Given the description of an element on the screen output the (x, y) to click on. 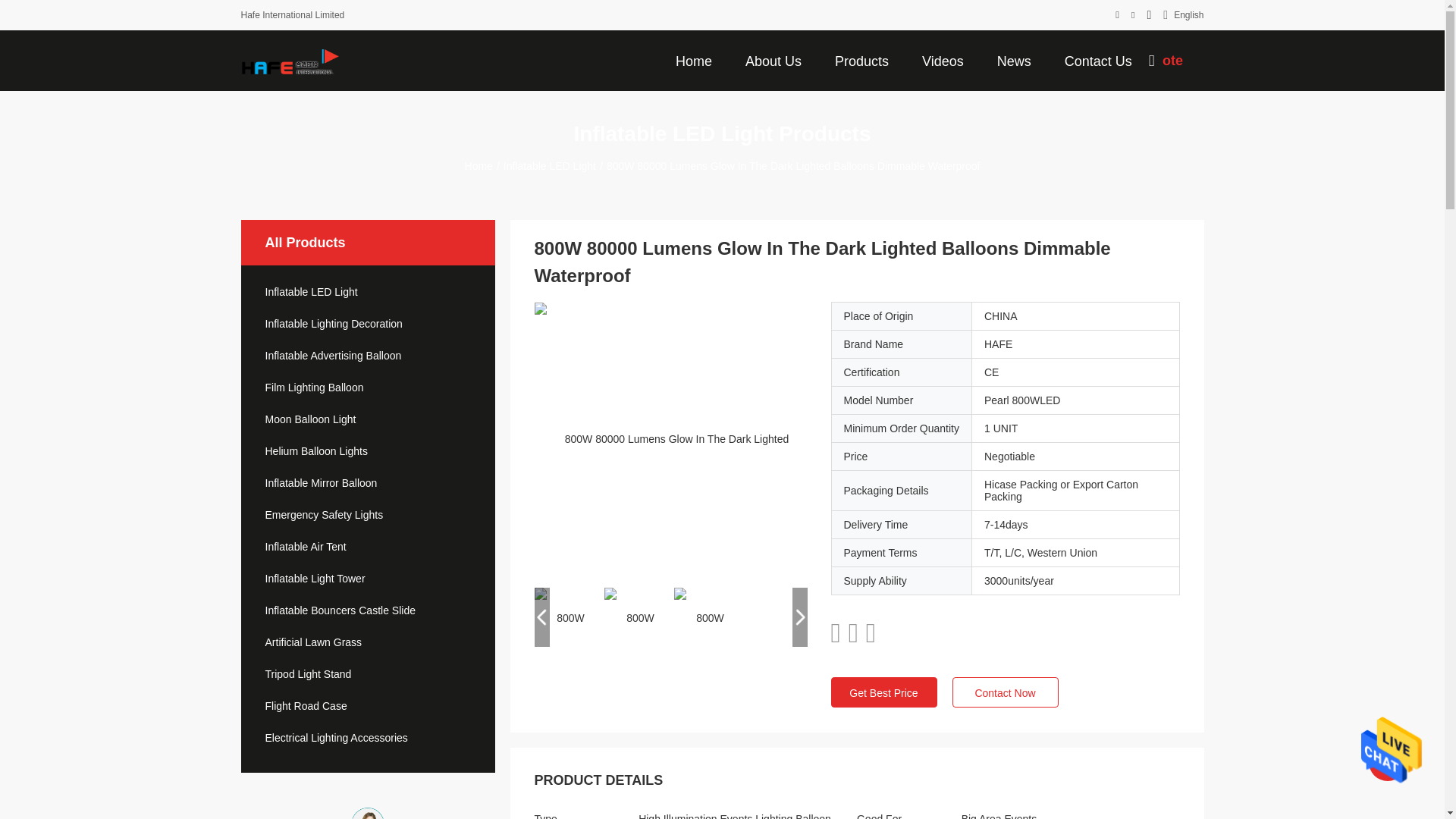
Products (861, 60)
About Us (773, 60)
Home (693, 60)
